Given the description of an element on the screen output the (x, y) to click on. 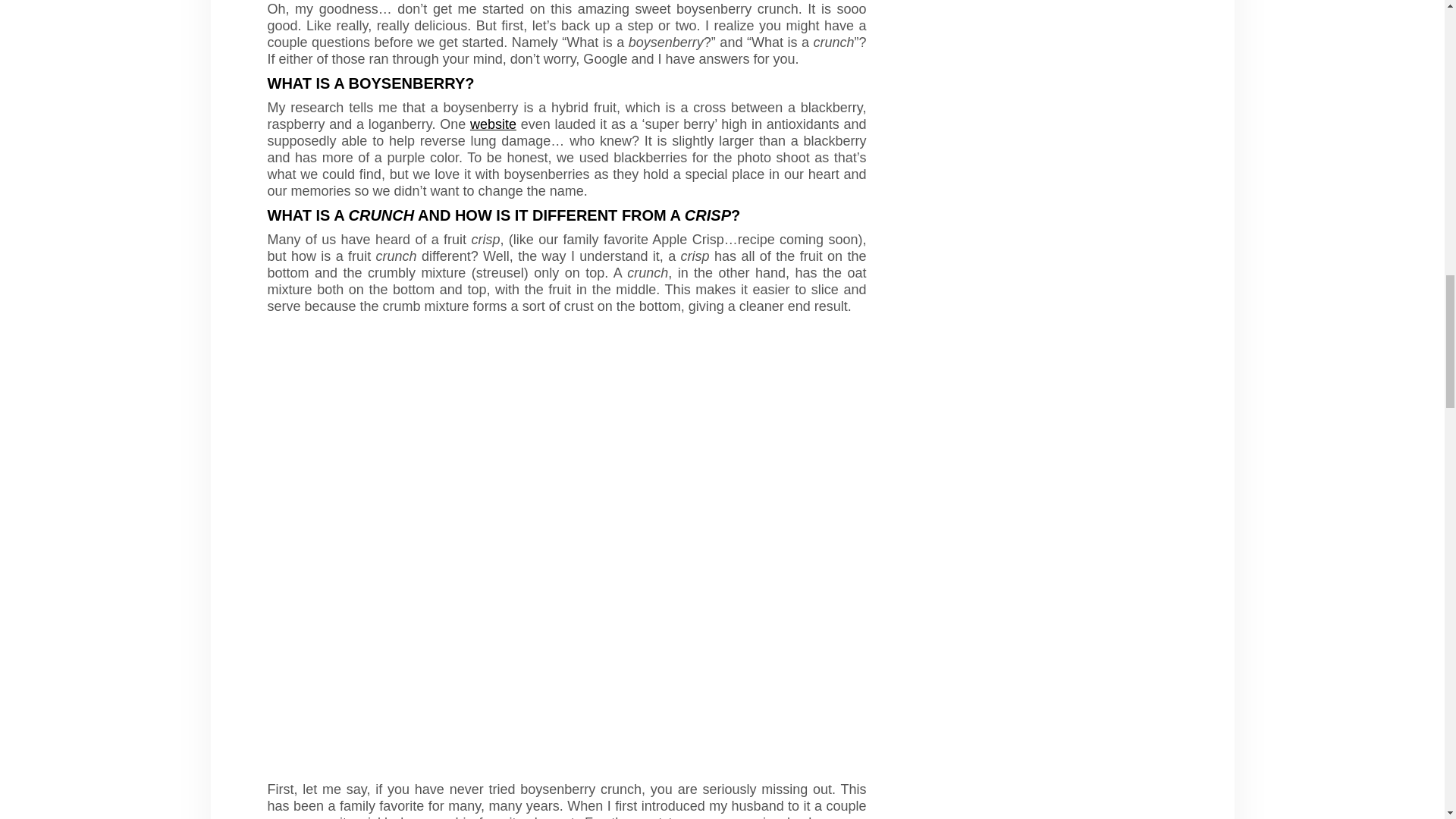
website (493, 124)
